Given the description of an element on the screen output the (x, y) to click on. 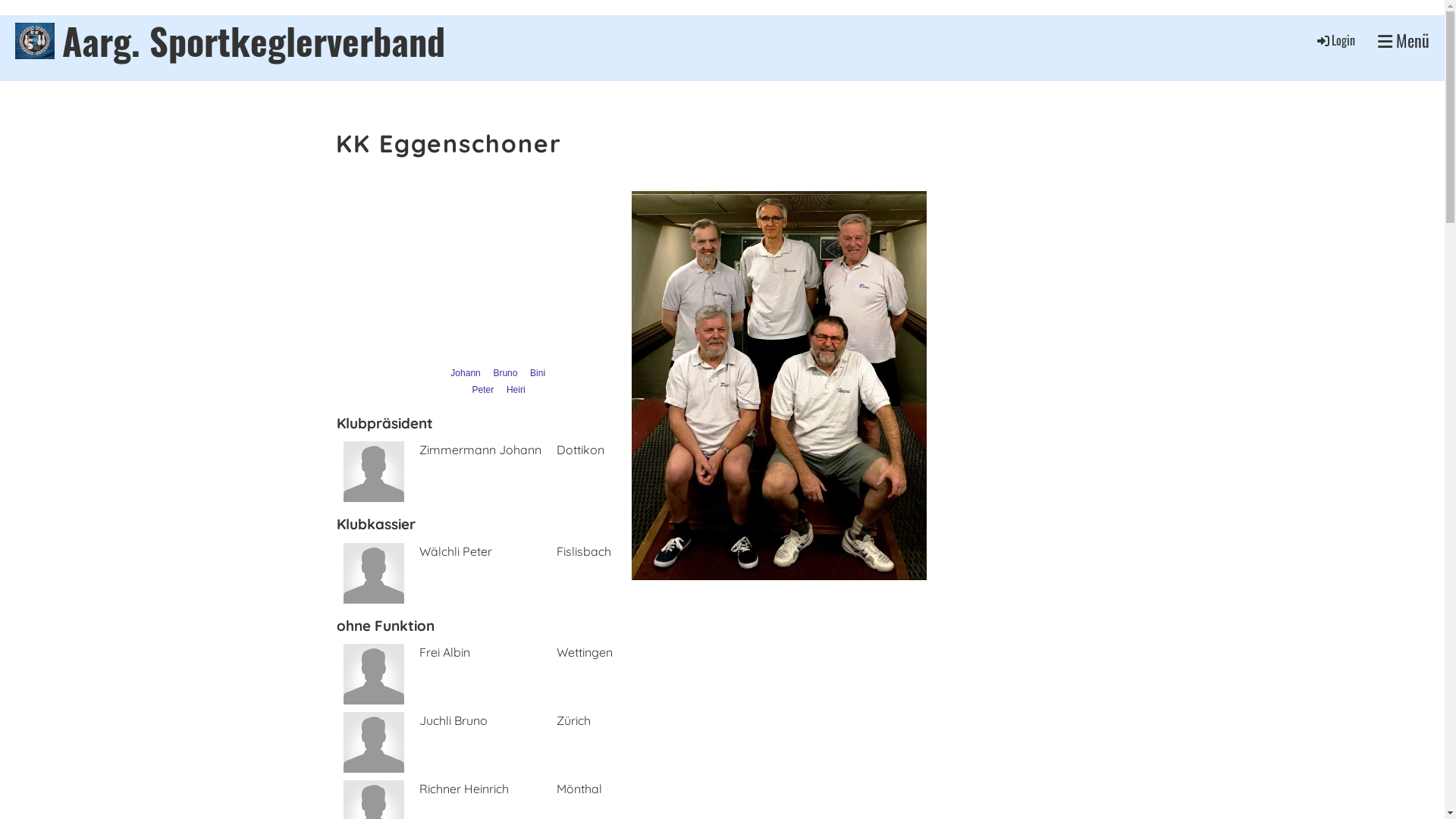
Frei Albin Wettingen Kategorie AK9 1.5 Element type: text (552, 674)
Aarg. Sportkeglerverband Element type: text (253, 40)
Zimmermann Johann Dottikon Kategorie B2 2.5 Element type: text (552, 471)
Login Element type: text (1334, 40)
